Given the description of an element on the screen output the (x, y) to click on. 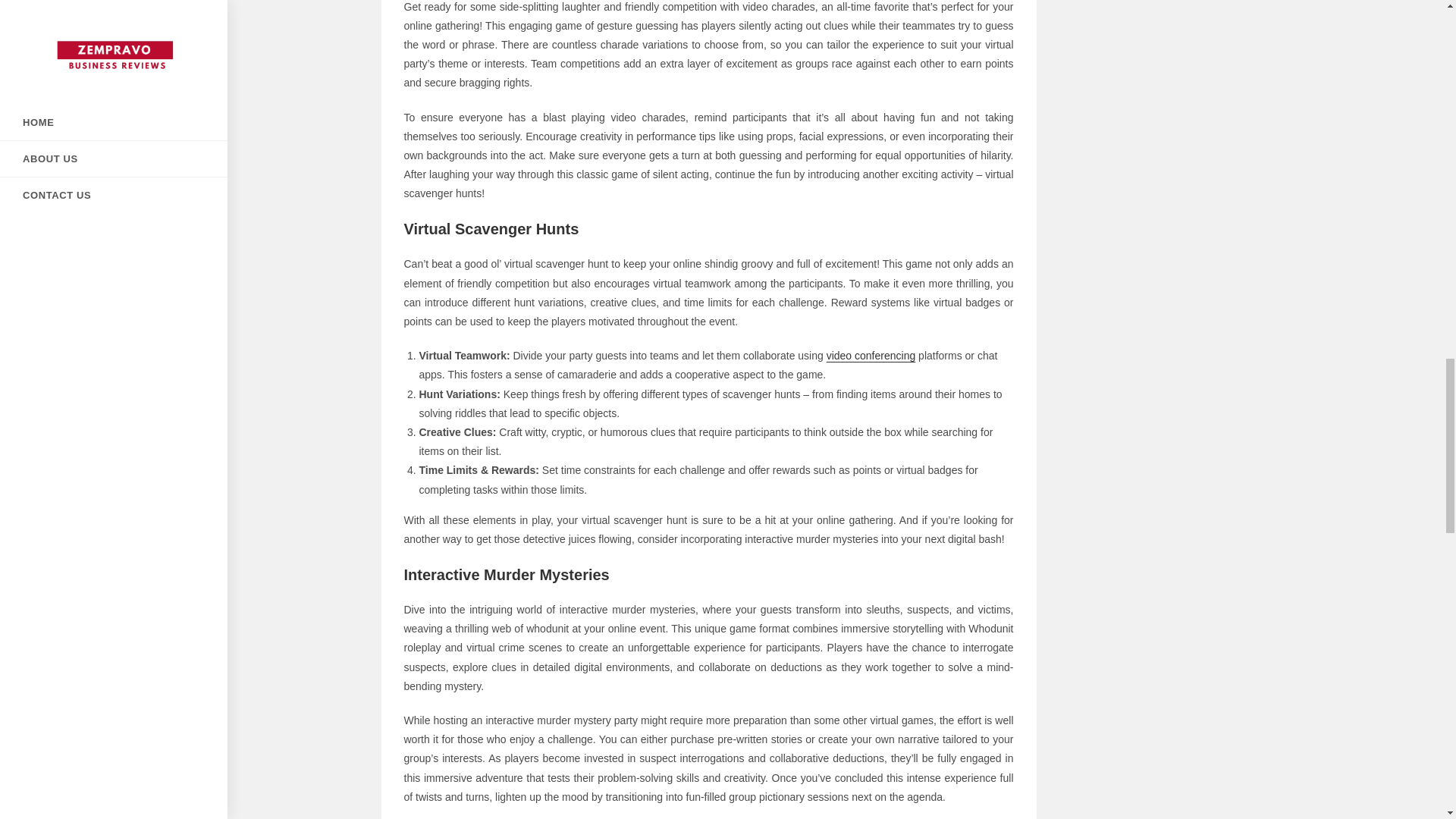
video conferencing (871, 355)
